Given the description of an element on the screen output the (x, y) to click on. 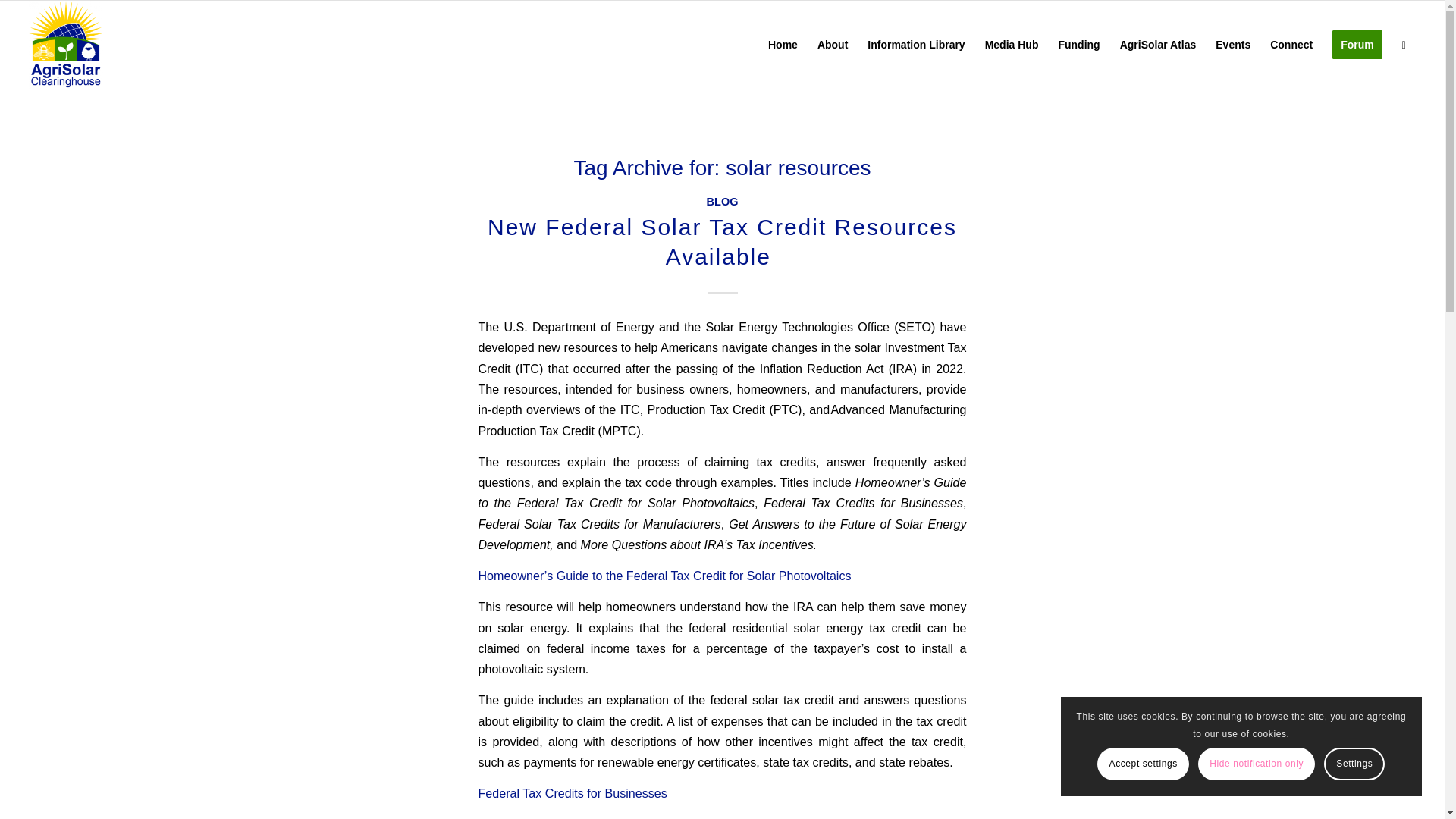
New Federal Solar Tax Credit Resources Available  (721, 241)
Information Library (915, 44)
BLOG (722, 201)
Federal Tax Credits for Businesses (571, 793)
AgriSolar Atlas (1158, 44)
